Given the description of an element on the screen output the (x, y) to click on. 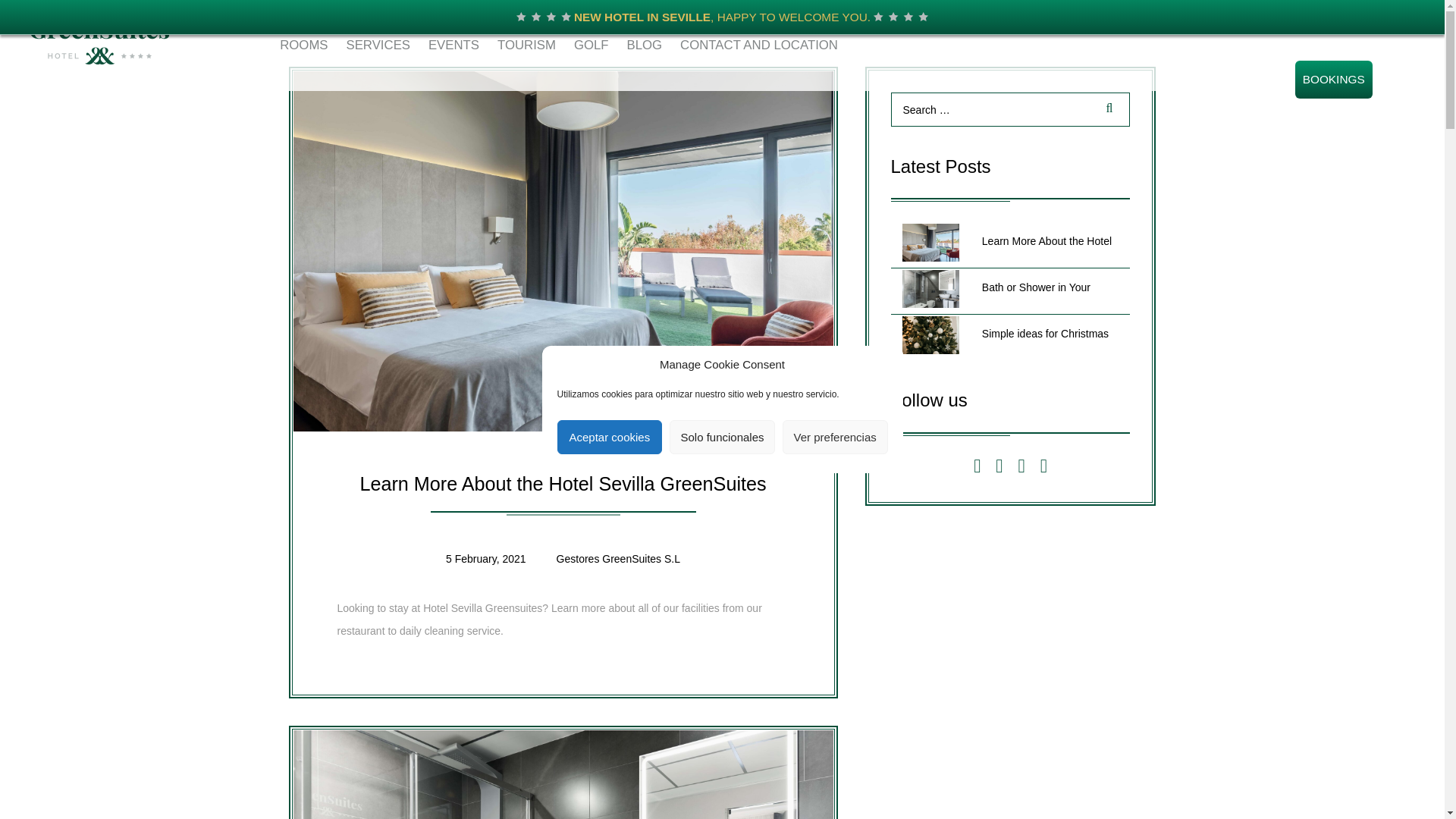
Reservar (1334, 79)
CONTACT AND LOCATION (758, 44)
Ver preferencias (835, 437)
5 February, 2021 (485, 558)
Search (1105, 109)
Solo funcionales (721, 437)
Aceptar cookies (609, 437)
Gestores GreenSuites S.L (617, 558)
Learn More About the Hotel Sevilla GreenSuites (562, 483)
BLOG (644, 44)
